Given the description of an element on the screen output the (x, y) to click on. 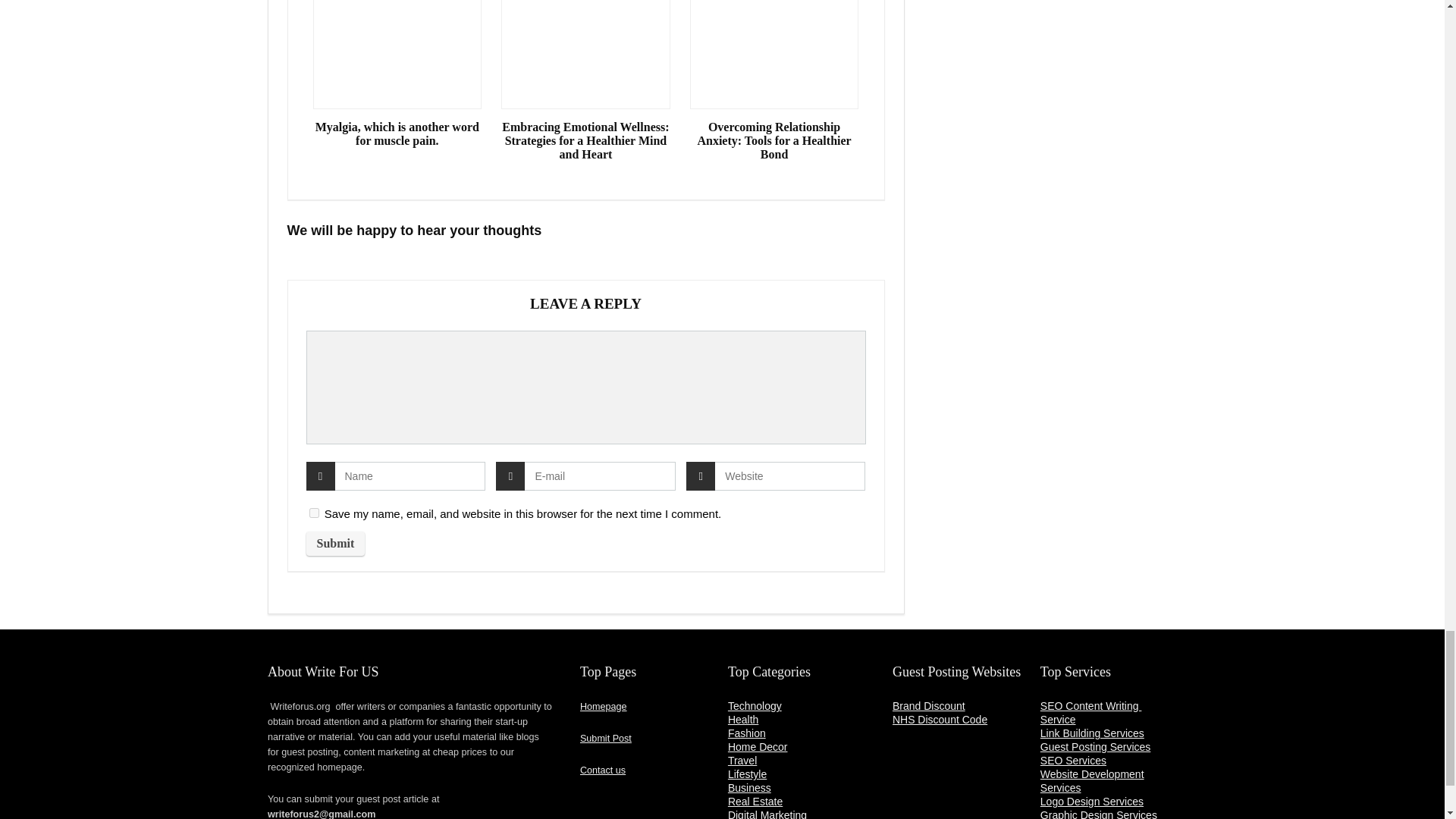
Overcoming Relationship Anxiety: Tools for a Healthier Bond (774, 140)
Submit (335, 543)
Myalgia, which is another word for muscle pain. (397, 134)
yes (313, 512)
